Given the description of an element on the screen output the (x, y) to click on. 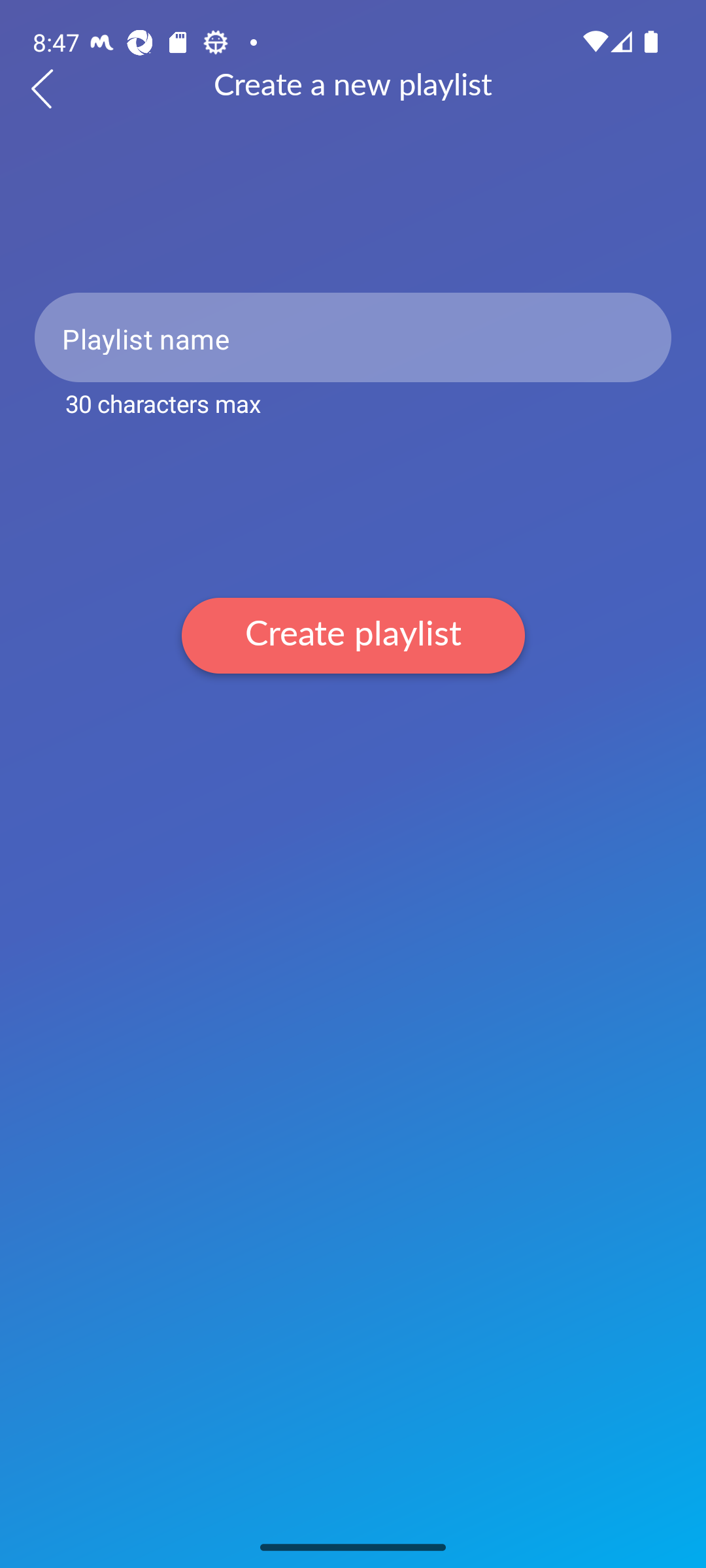
Playlist name (352, 337)
Create playlist (353, 634)
